Given the description of an element on the screen output the (x, y) to click on. 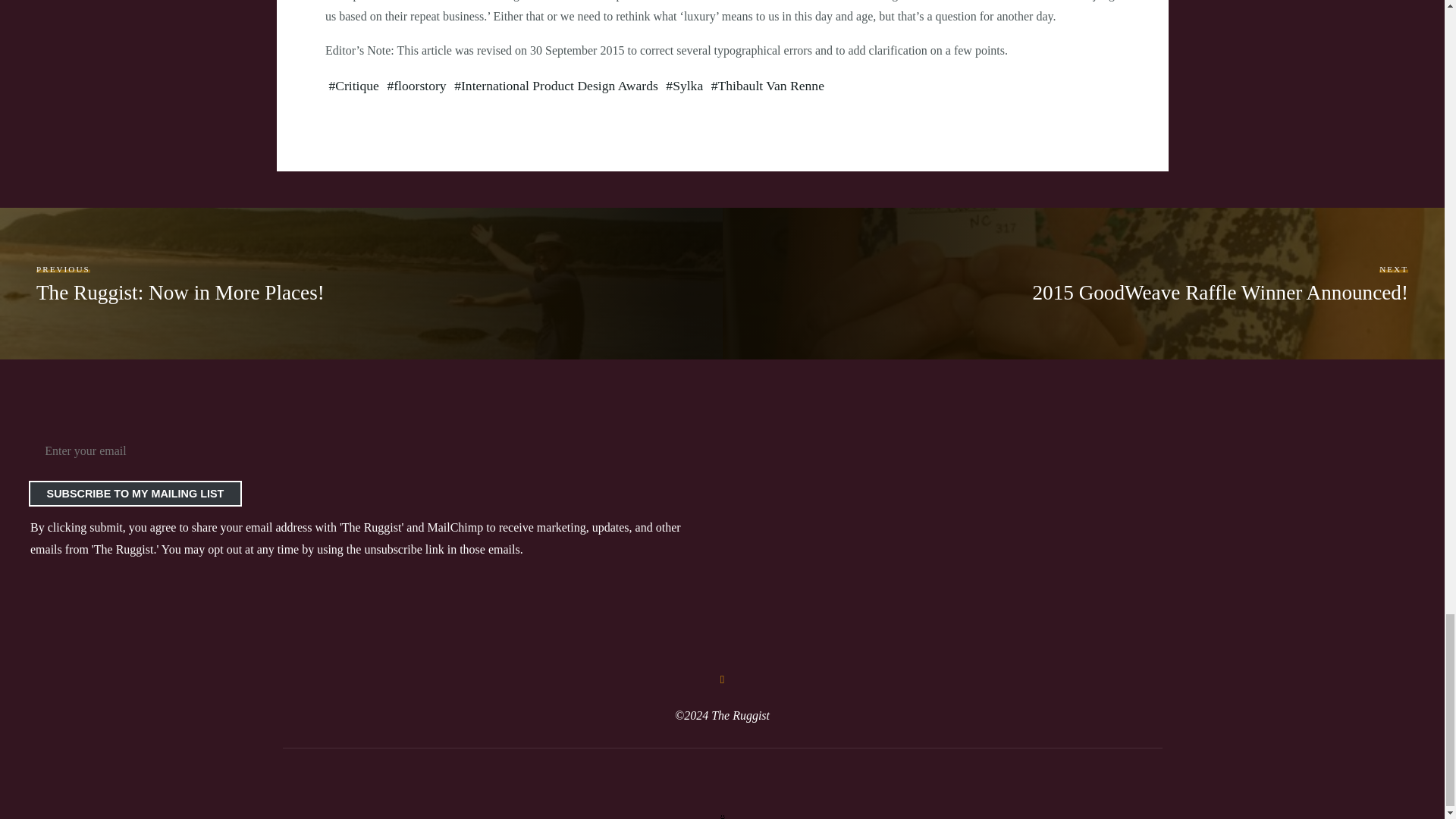
floorstory (419, 85)
International Product Design Awards (559, 85)
Sylka (687, 85)
Thibault Van Renne (770, 85)
SUBSCRIBE TO MY MAILING LIST (135, 493)
Critique (1219, 282)
